Given the description of an element on the screen output the (x, y) to click on. 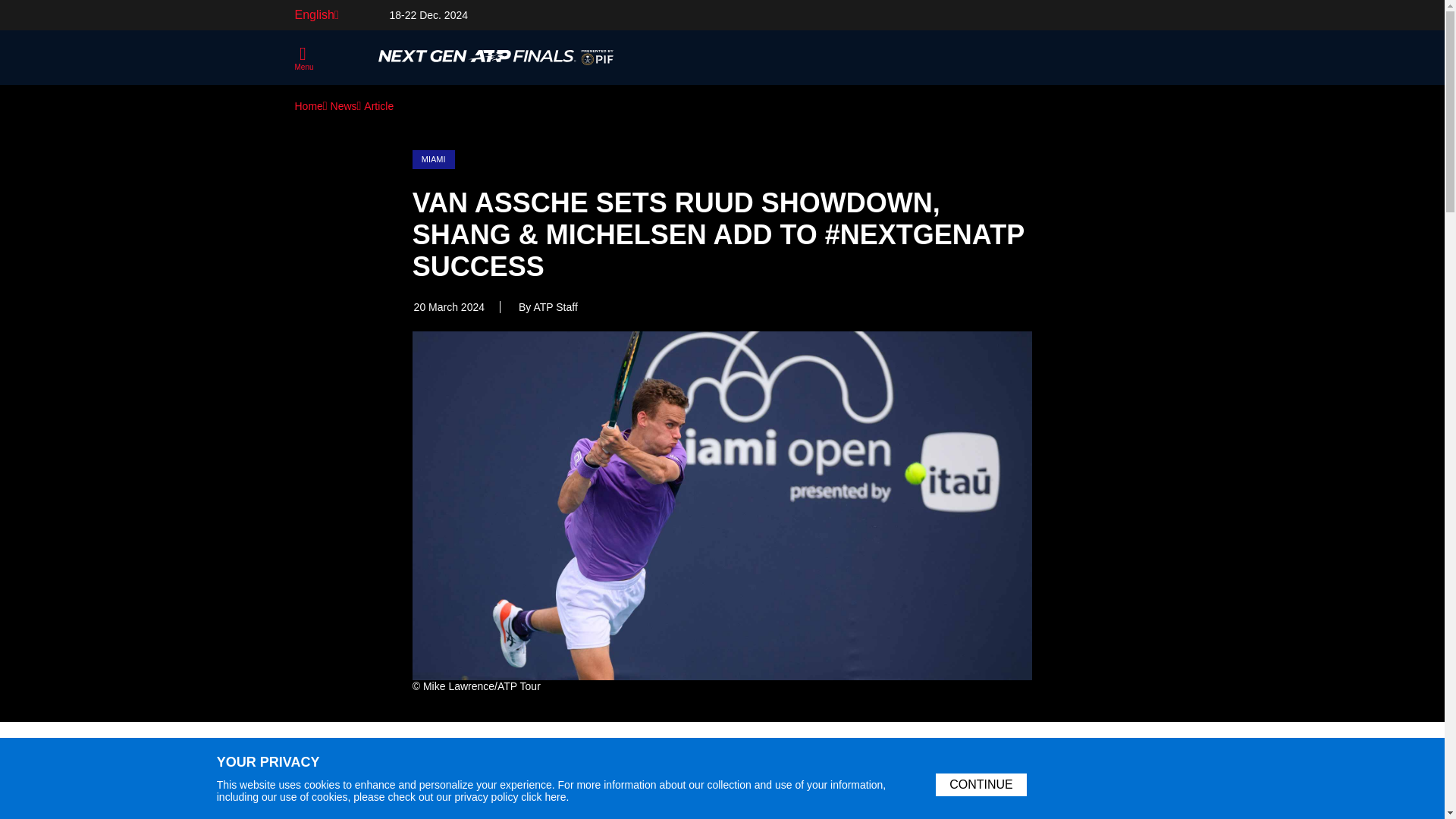
News (345, 105)
Home (310, 105)
Article (378, 105)
